Given the description of an element on the screen output the (x, y) to click on. 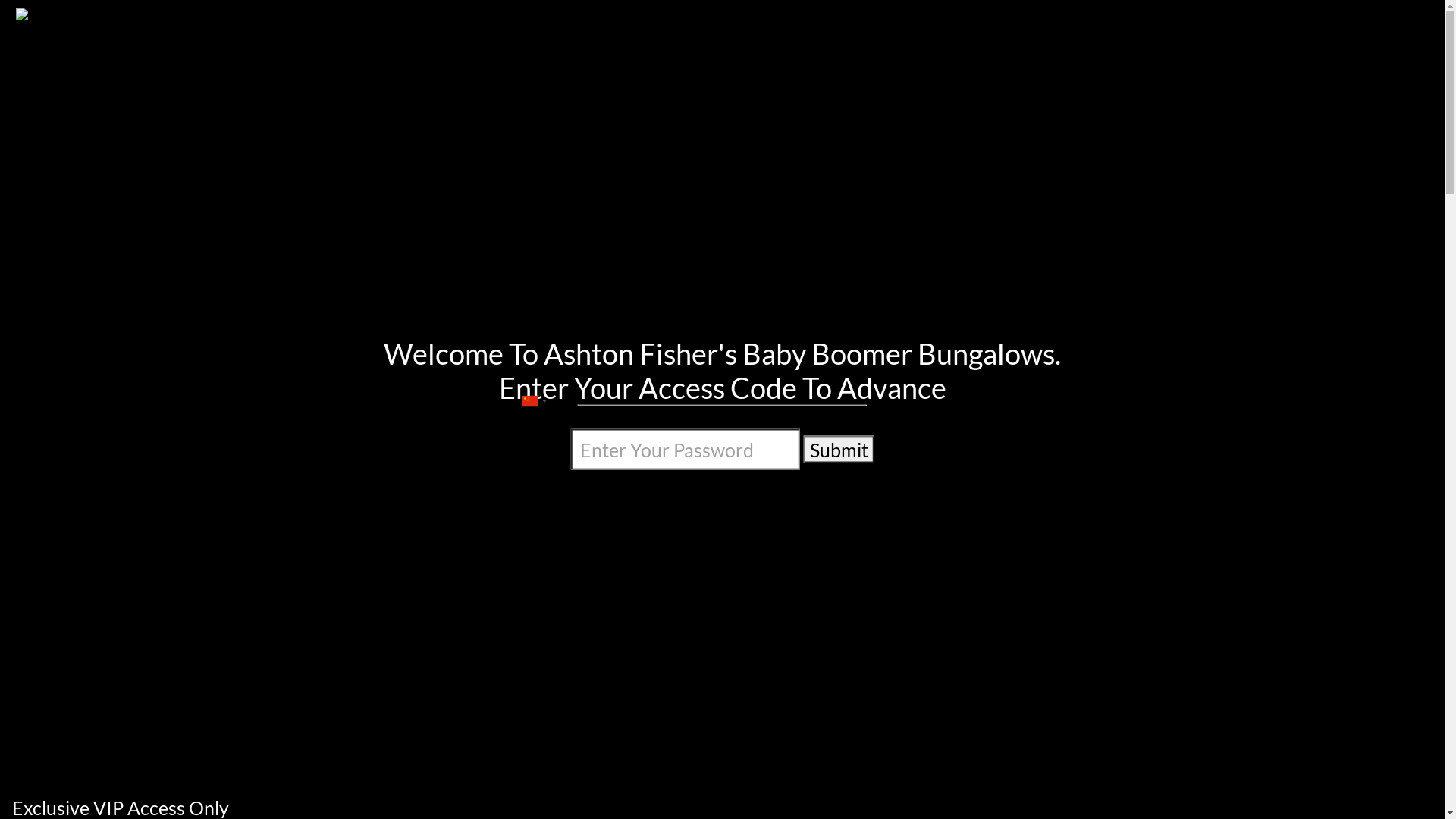
AF-University Element type: text (936, 94)
Newsletter Element type: text (1103, 94)
Home Element type: text (850, 94)
Submit Element type: text (838, 448)
Videos Element type: text (1023, 94)
+(305) 111-222-333 Element type: text (359, 13)
China: +86 Element type: hover (532, 400)
Yes! Give Me Access To The Baby Boomer Bungalows! Element type: text (722, 540)
info@example.com Element type: text (501, 13)
